Given the description of an element on the screen output the (x, y) to click on. 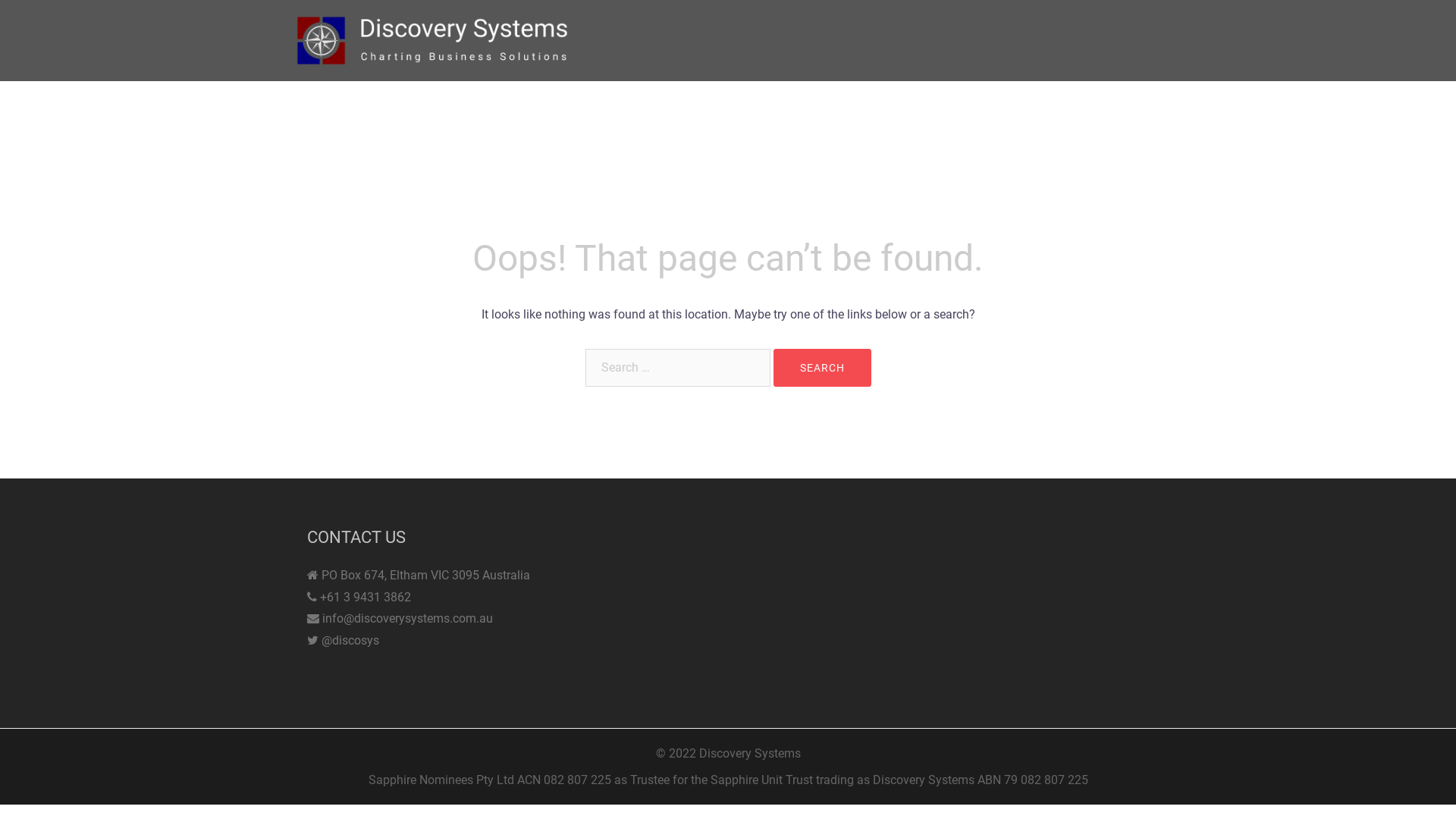
Discovery Systems Element type: hover (431, 39)
Search Element type: text (822, 367)
@discosys Element type: text (350, 640)
info@discoverysystems.com.au Element type: text (407, 618)
